Given the description of an element on the screen output the (x, y) to click on. 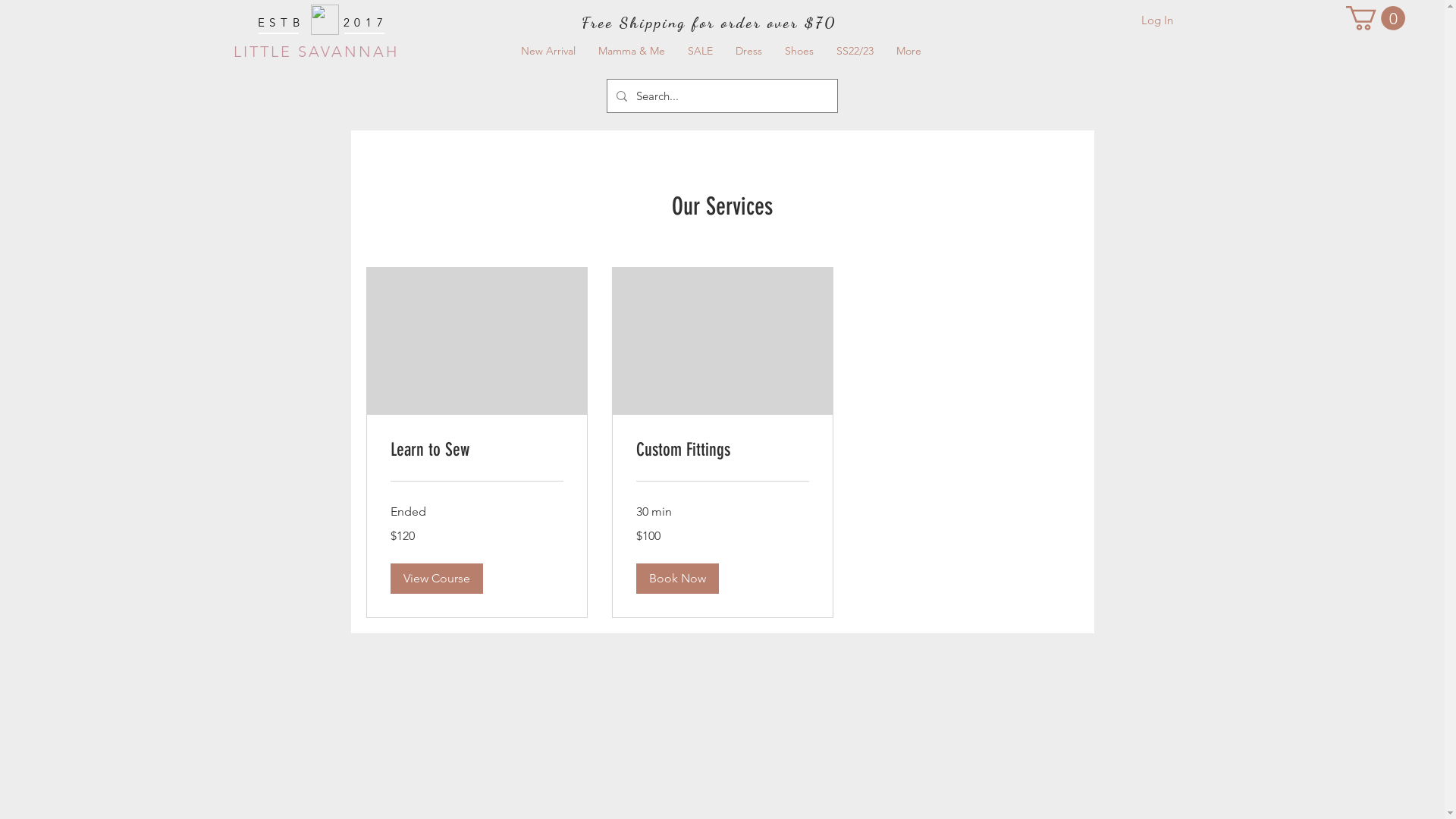
Book Now Element type: text (676, 578)
SS22/23 Element type: text (854, 51)
LITTLE SAVANNAH Element type: text (315, 51)
Log In Element type: text (1156, 19)
Mamma & Me Element type: text (631, 51)
New Arrival Element type: text (547, 51)
Shoes Element type: text (799, 51)
Dress Element type: text (747, 51)
View Course Element type: text (435, 578)
Custom Fittings Element type: text (721, 450)
0 Element type: text (1375, 18)
Learn to Sew Element type: text (475, 450)
SALE Element type: text (700, 51)
